Given the description of an element on the screen output the (x, y) to click on. 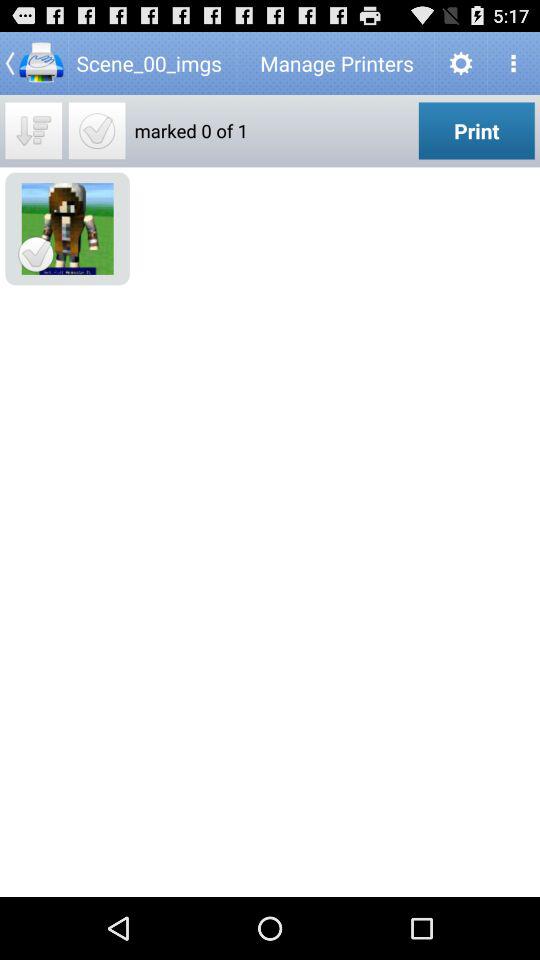
switch sort method (33, 130)
